Given the description of an element on the screen output the (x, y) to click on. 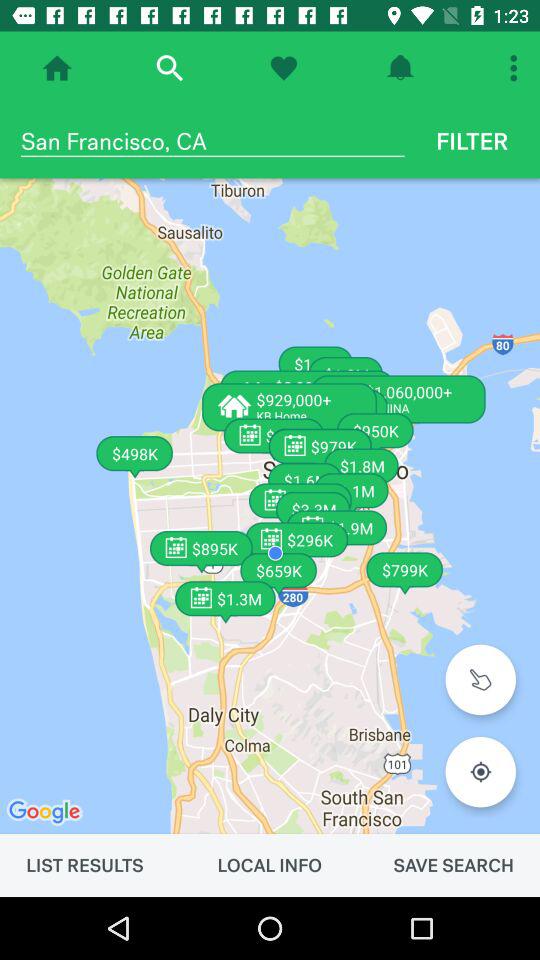
turn off list results (84, 865)
